Given the description of an element on the screen output the (x, y) to click on. 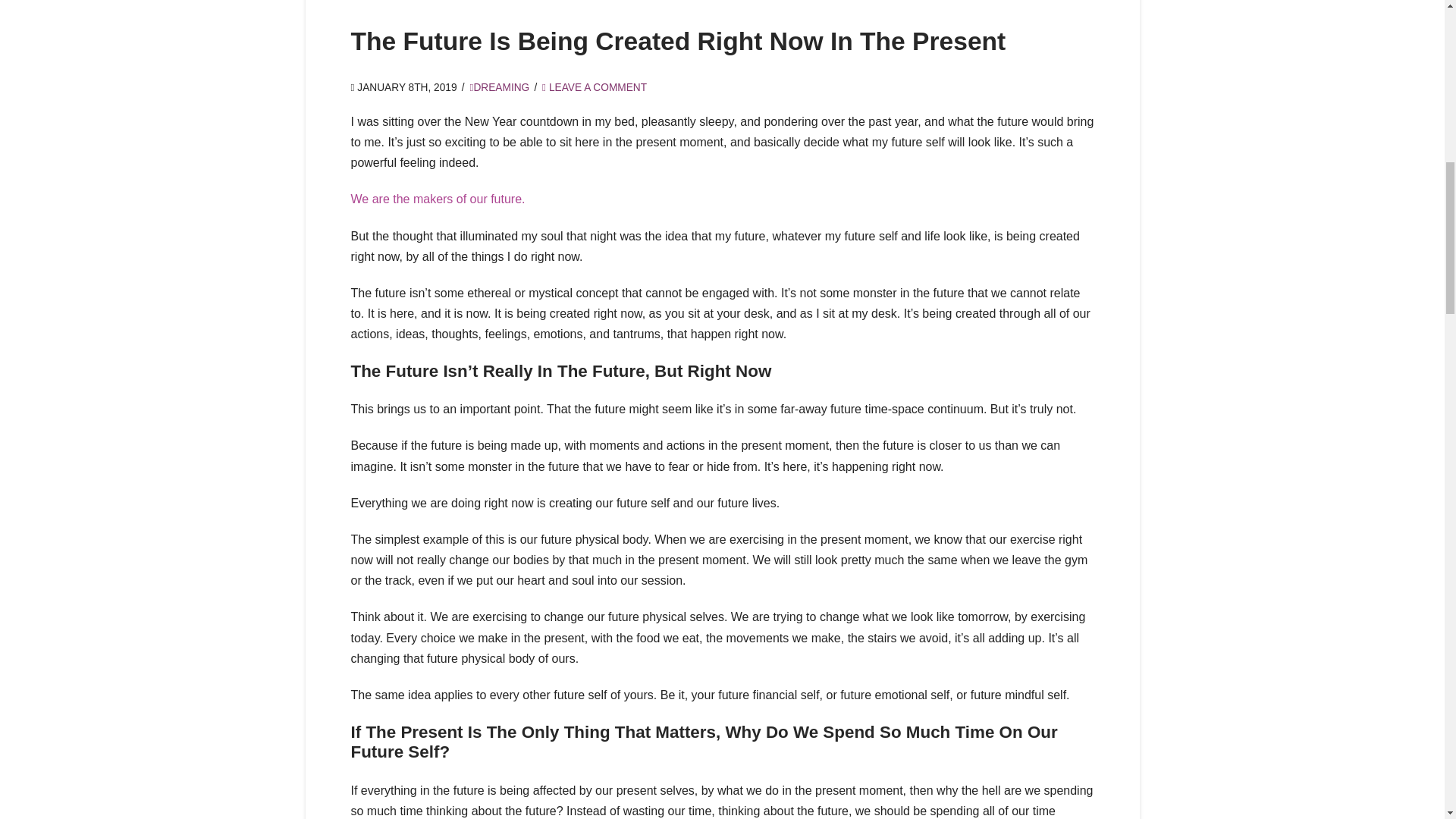
We are the makers of our future. (437, 198)
LEAVE A COMMENT (593, 87)
DREAMING (498, 87)
